Given the description of an element on the screen output the (x, y) to click on. 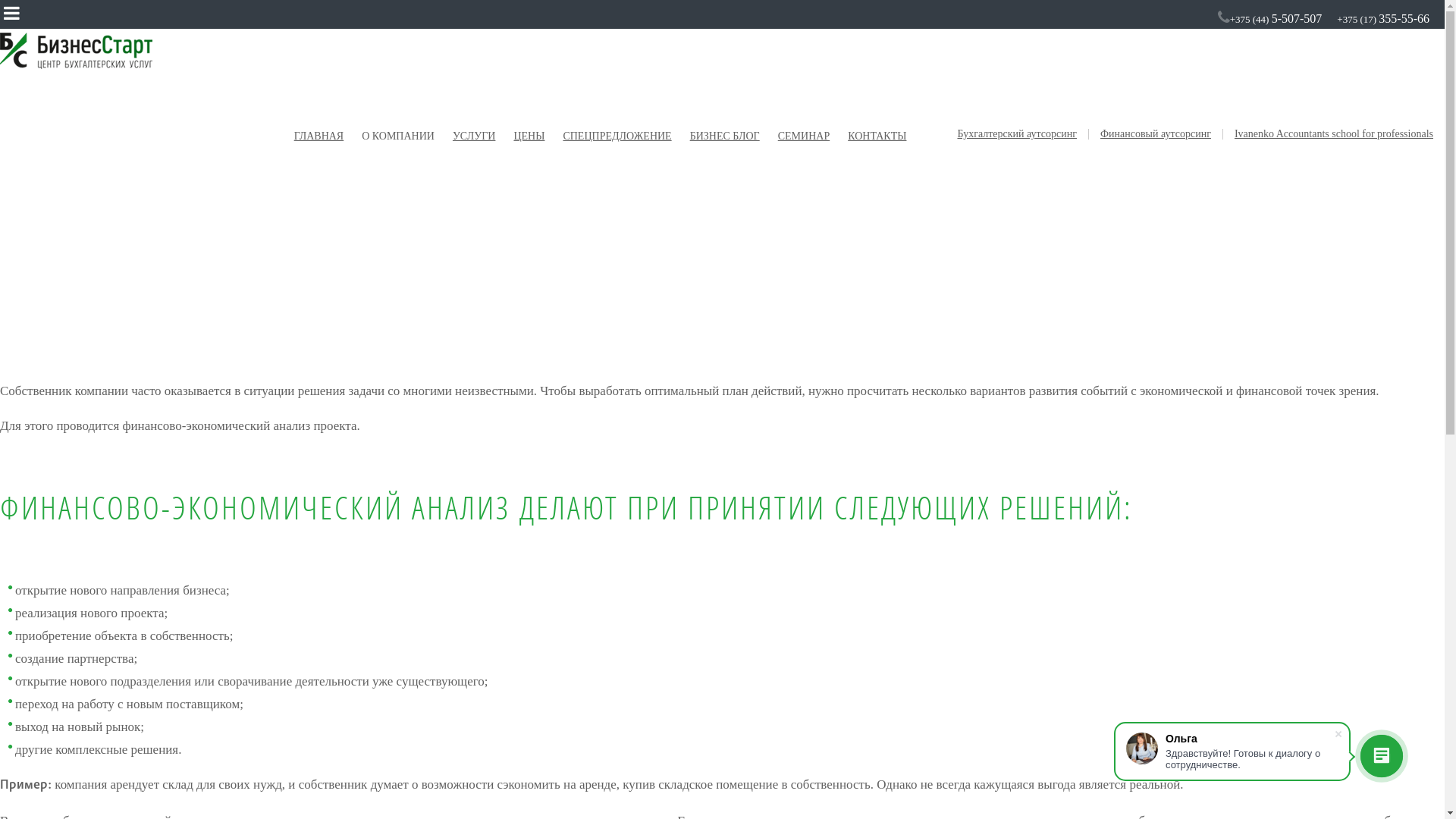
Ivanenko Accountants school for professionals Element type: text (1333, 133)
